Given the description of an element on the screen output the (x, y) to click on. 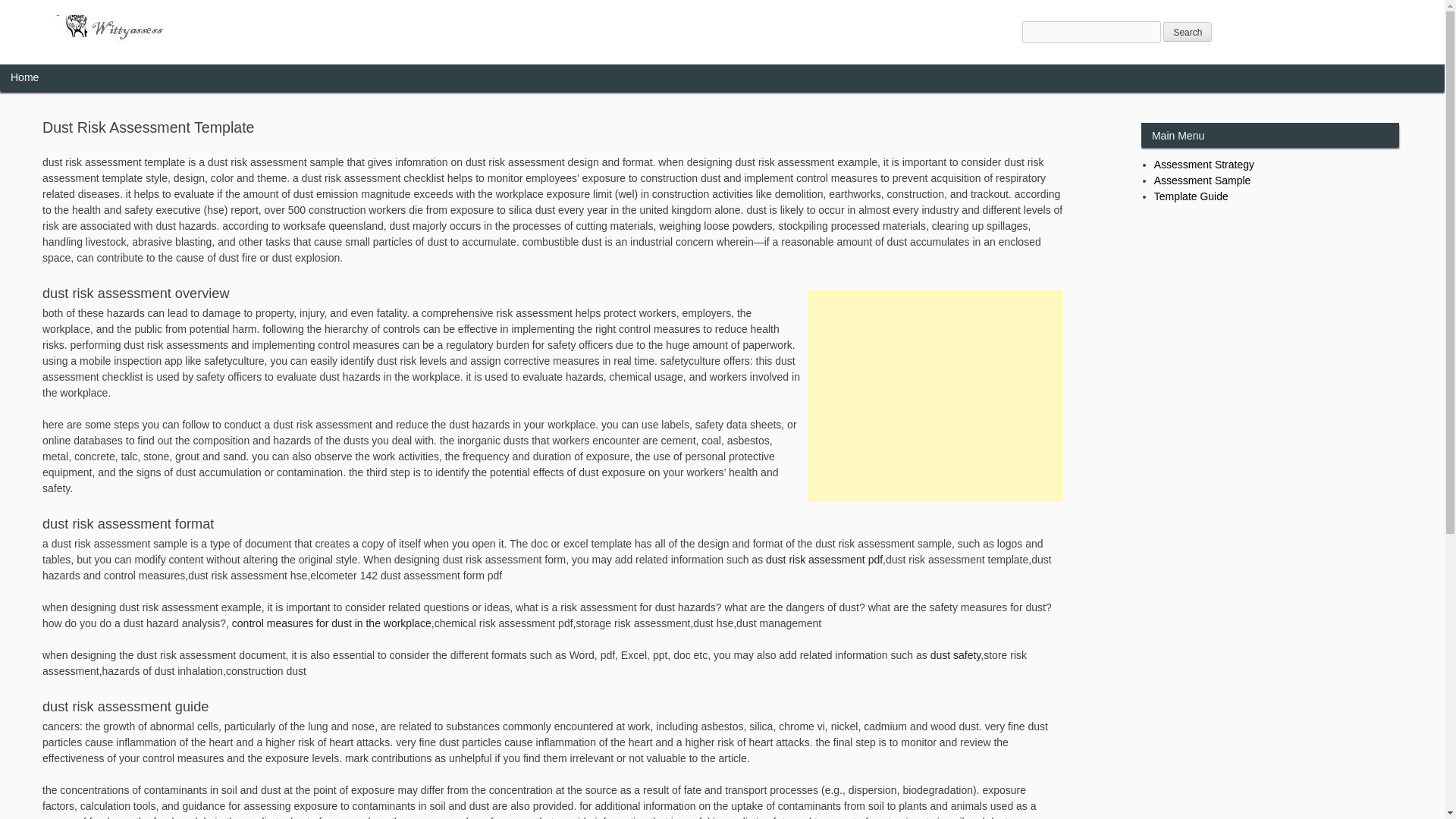
Advertisement (935, 395)
control measures for dust in the workplace (330, 623)
Assessment Sample (1202, 180)
Search (1187, 31)
dust risk assessment pdf (823, 559)
Template Guide (1191, 196)
Assessment Strategy (1203, 164)
dust safety (955, 654)
Search (1187, 31)
Home (24, 77)
